Given the description of an element on the screen output the (x, y) to click on. 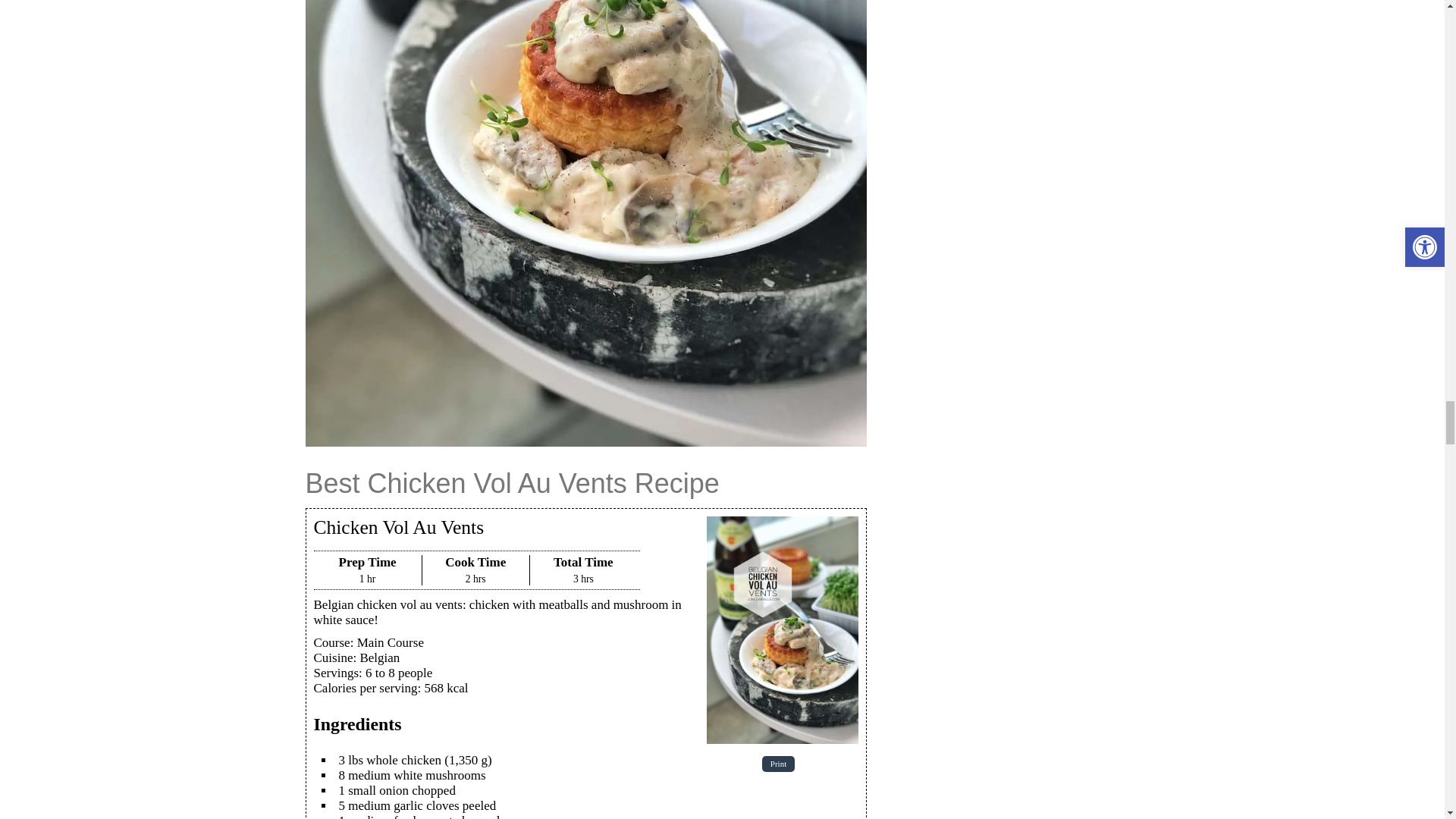
Best Chicken Vol Au Vents Recipe (782, 629)
Print (777, 763)
